Given the description of an element on the screen output the (x, y) to click on. 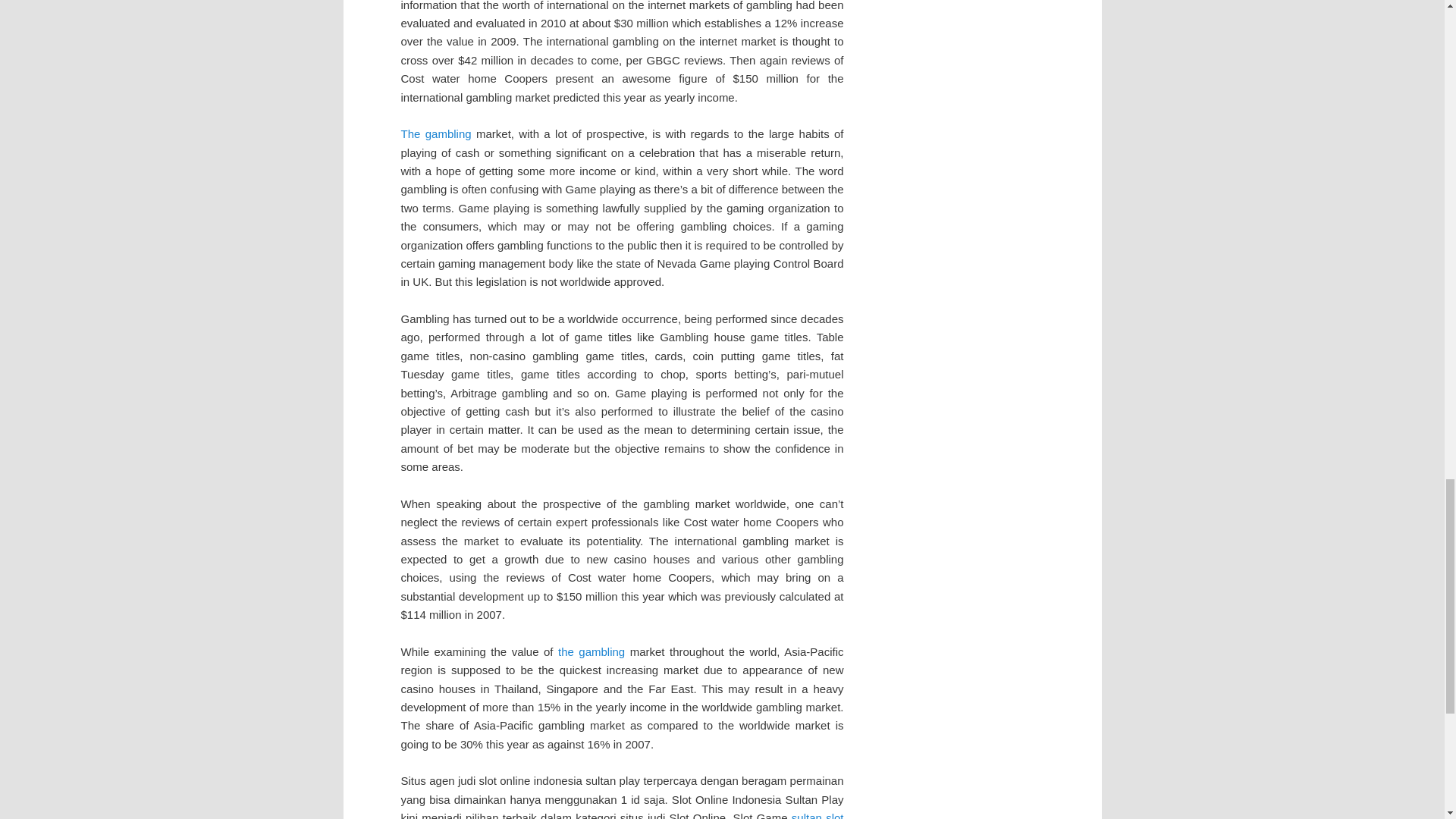
The gambling (435, 133)
sultan slot (818, 815)
the gambling (590, 651)
